Given the description of an element on the screen output the (x, y) to click on. 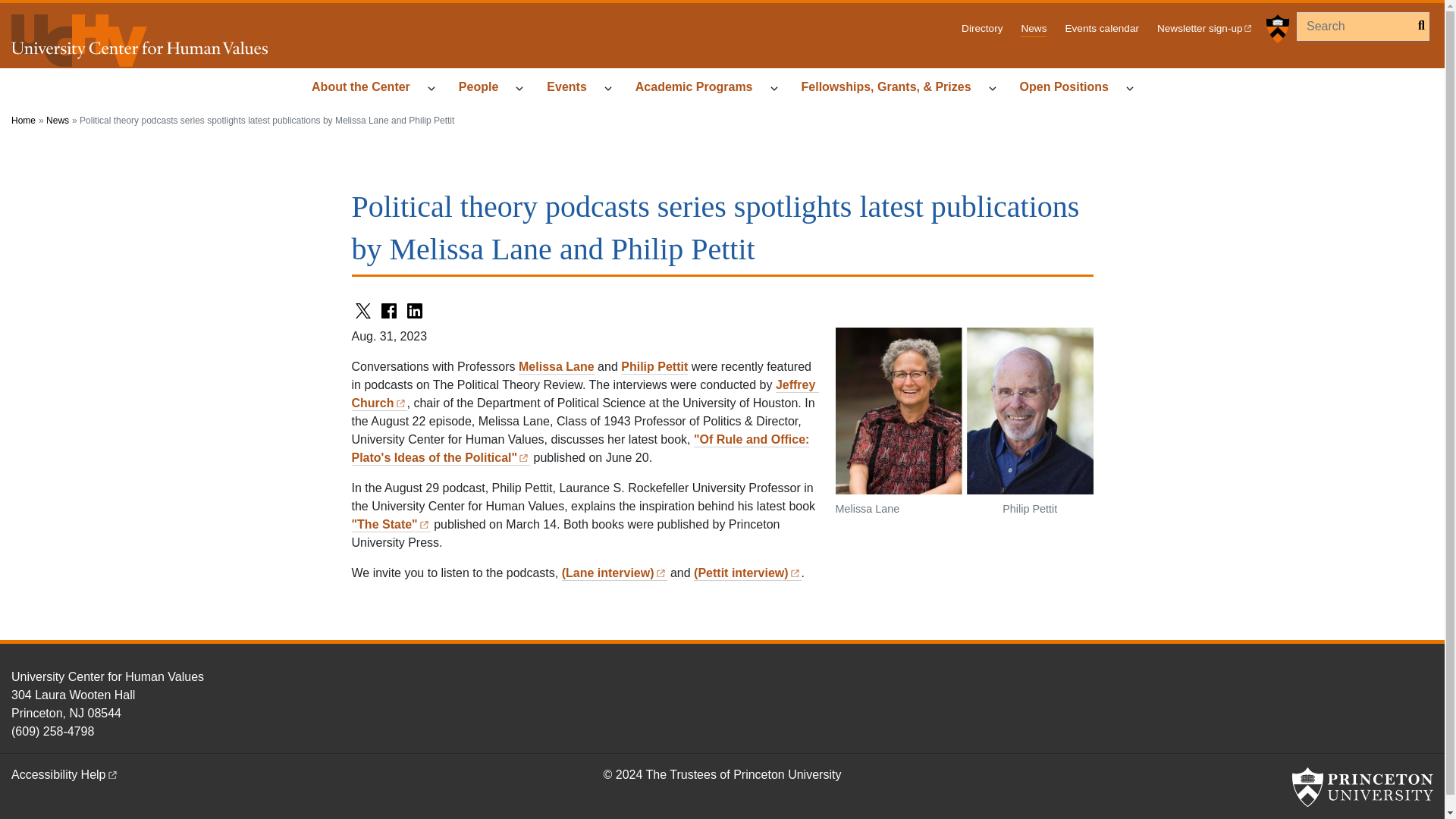
Link is external (424, 522)
Link is external (523, 456)
Link is external (111, 773)
Princeton University (1362, 786)
Link is external (400, 401)
People (485, 87)
Link is external (1247, 26)
Link is external (660, 571)
Link is external (794, 571)
About the Center (367, 87)
Submit (1417, 25)
